Given the description of an element on the screen output the (x, y) to click on. 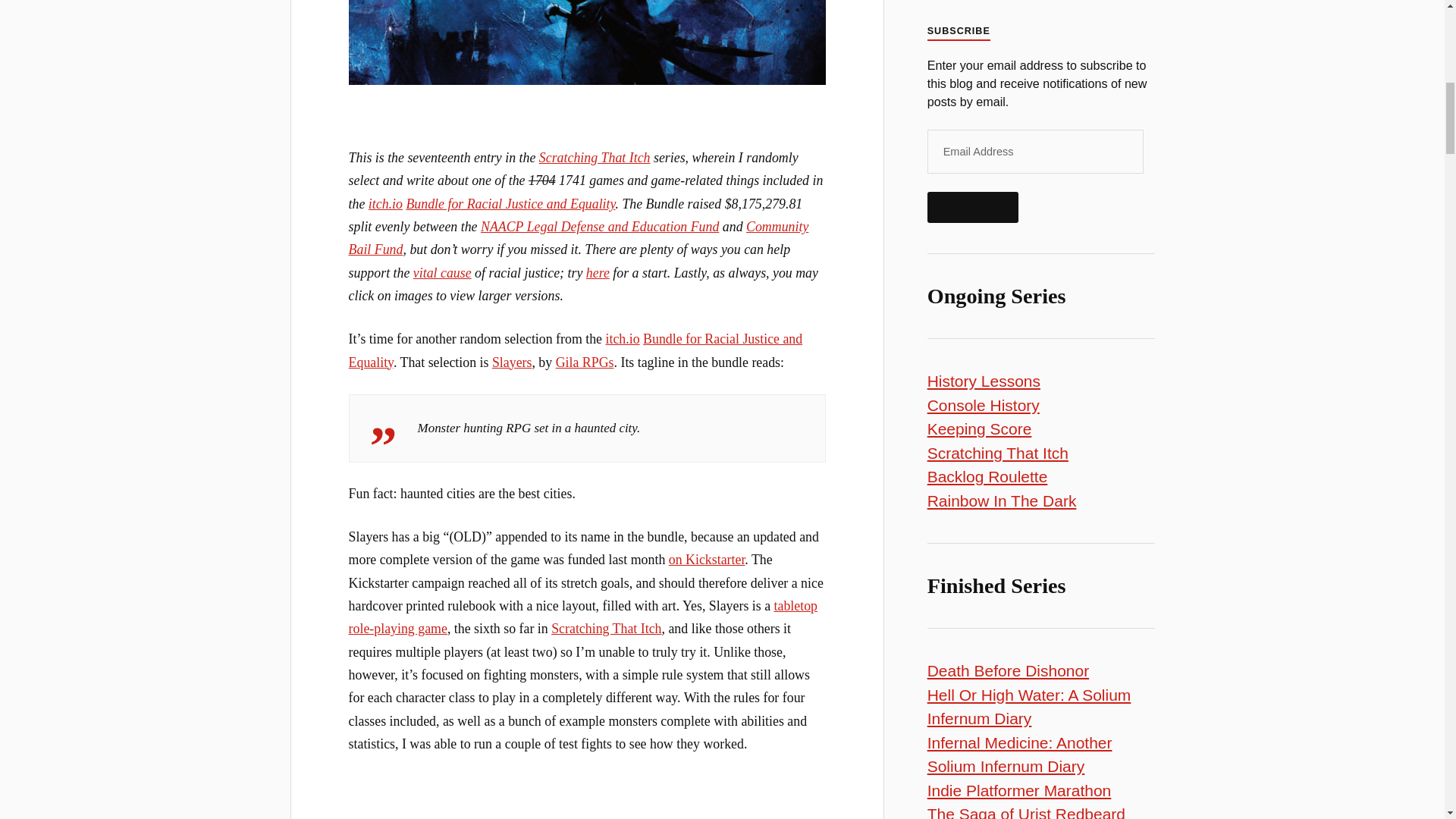
Scratching That Itch (606, 628)
on Kickstarter (706, 559)
vital cause (442, 272)
Slayers (512, 362)
NAACP Legal Defense and Education Fund (599, 226)
Yeah, that sounds like maximum gloom. (587, 814)
Gila RPGs (585, 362)
Bundle for Racial Justice and Equality (510, 203)
itch.io (385, 203)
tabletop role-playing game (582, 617)
